Given the description of an element on the screen output the (x, y) to click on. 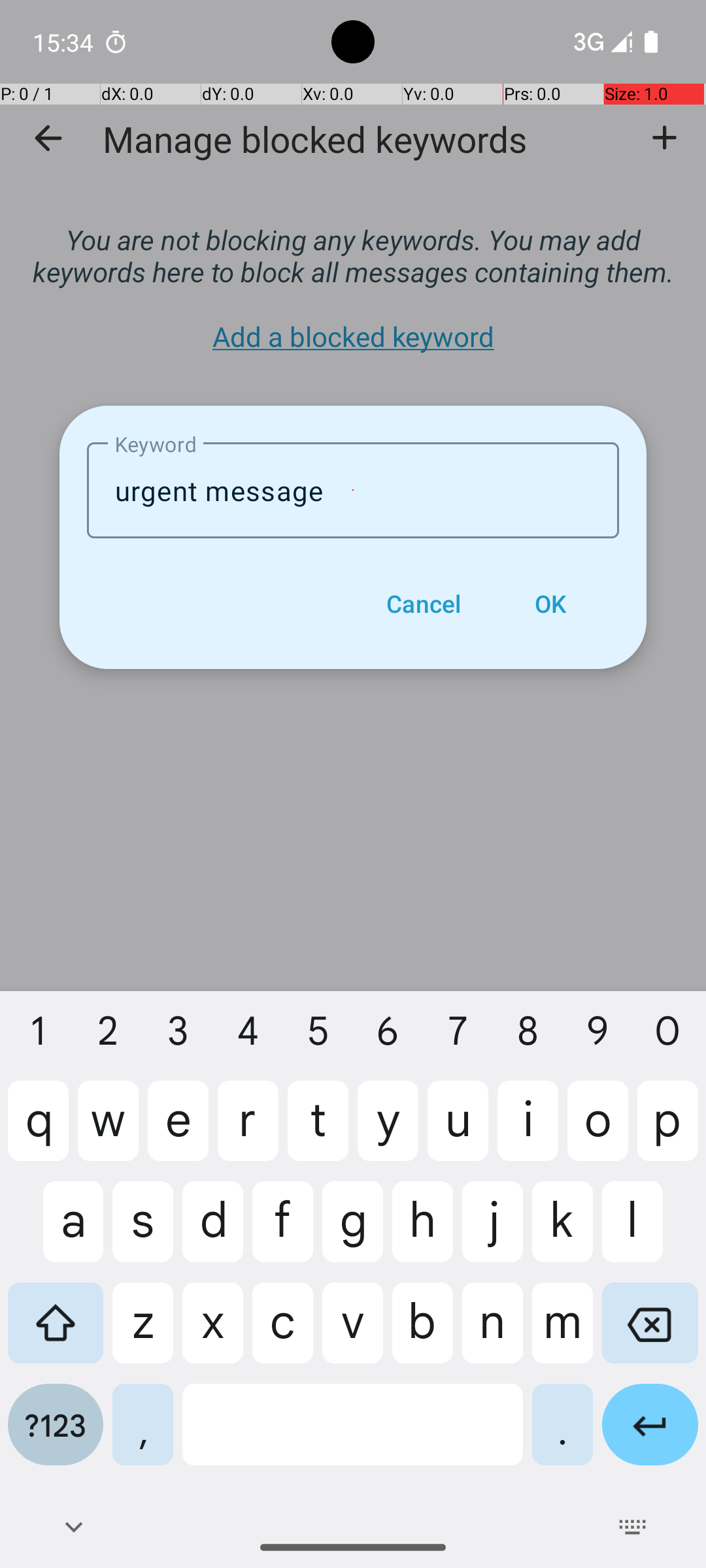
urgent message Element type: android.widget.EditText (352, 490)
